Given the description of an element on the screen output the (x, y) to click on. 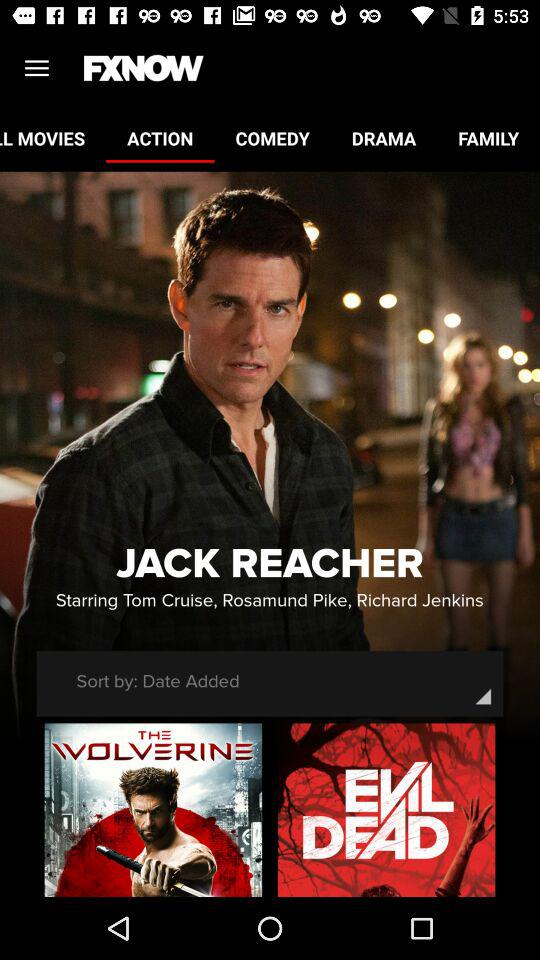
turn on the icon next to the drama icon (272, 138)
